Given the description of an element on the screen output the (x, y) to click on. 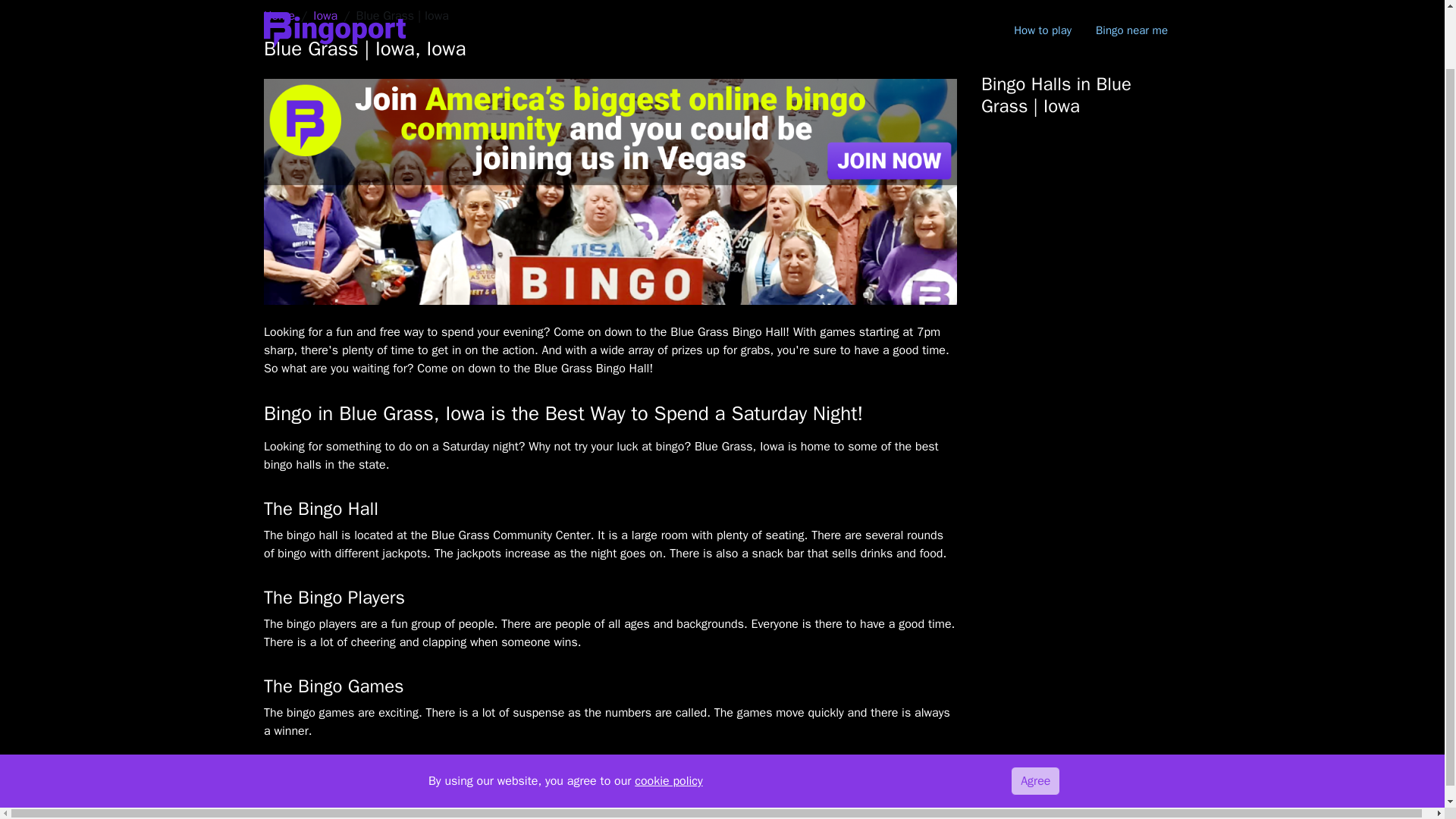
Iowa (325, 15)
cookie policy (667, 714)
Agree (1034, 715)
Home (279, 15)
